Given the description of an element on the screen output the (x, y) to click on. 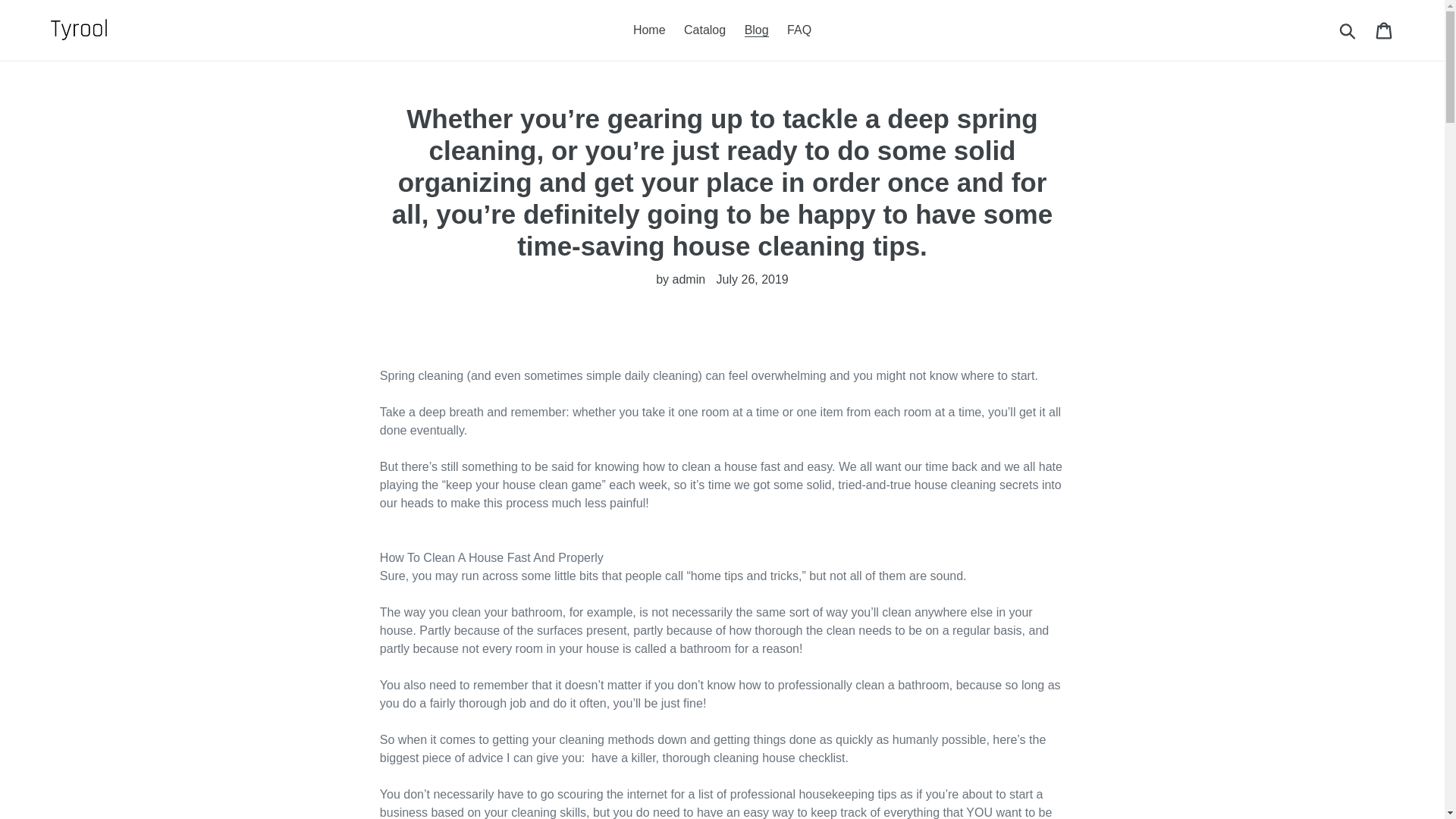
FAQ (798, 29)
Submit (1348, 29)
Cart (1385, 29)
Home (649, 29)
Blog (756, 29)
Catalog (705, 29)
